Given the description of an element on the screen output the (x, y) to click on. 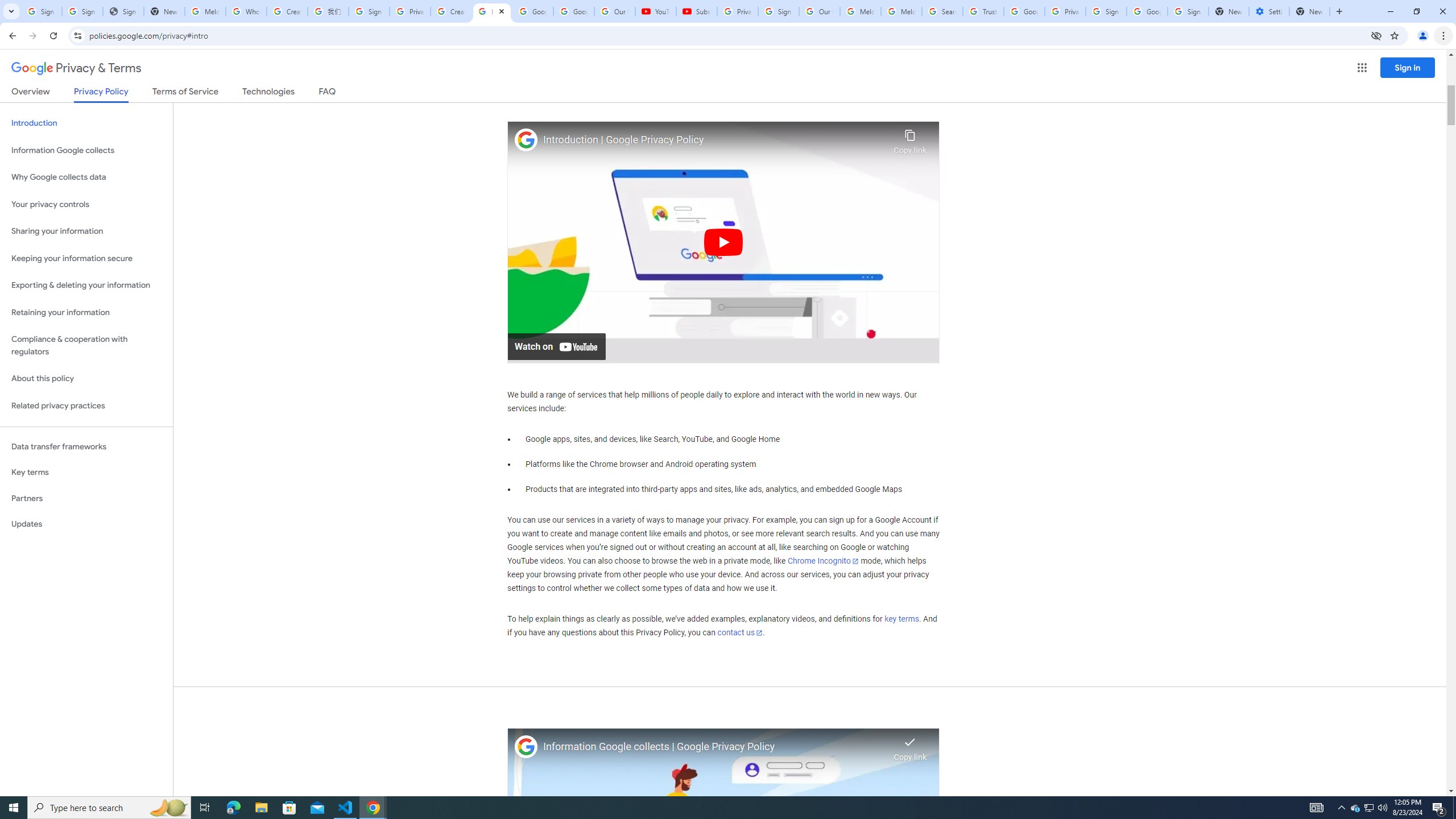
Google Ads - Sign in (1023, 11)
Sharing your information (86, 230)
Photo image of Google (526, 746)
Sign in - Google Accounts (1187, 11)
About this policy (86, 379)
Search our Doodle Library Collection - Google Doodles (942, 11)
